Given the description of an element on the screen output the (x, y) to click on. 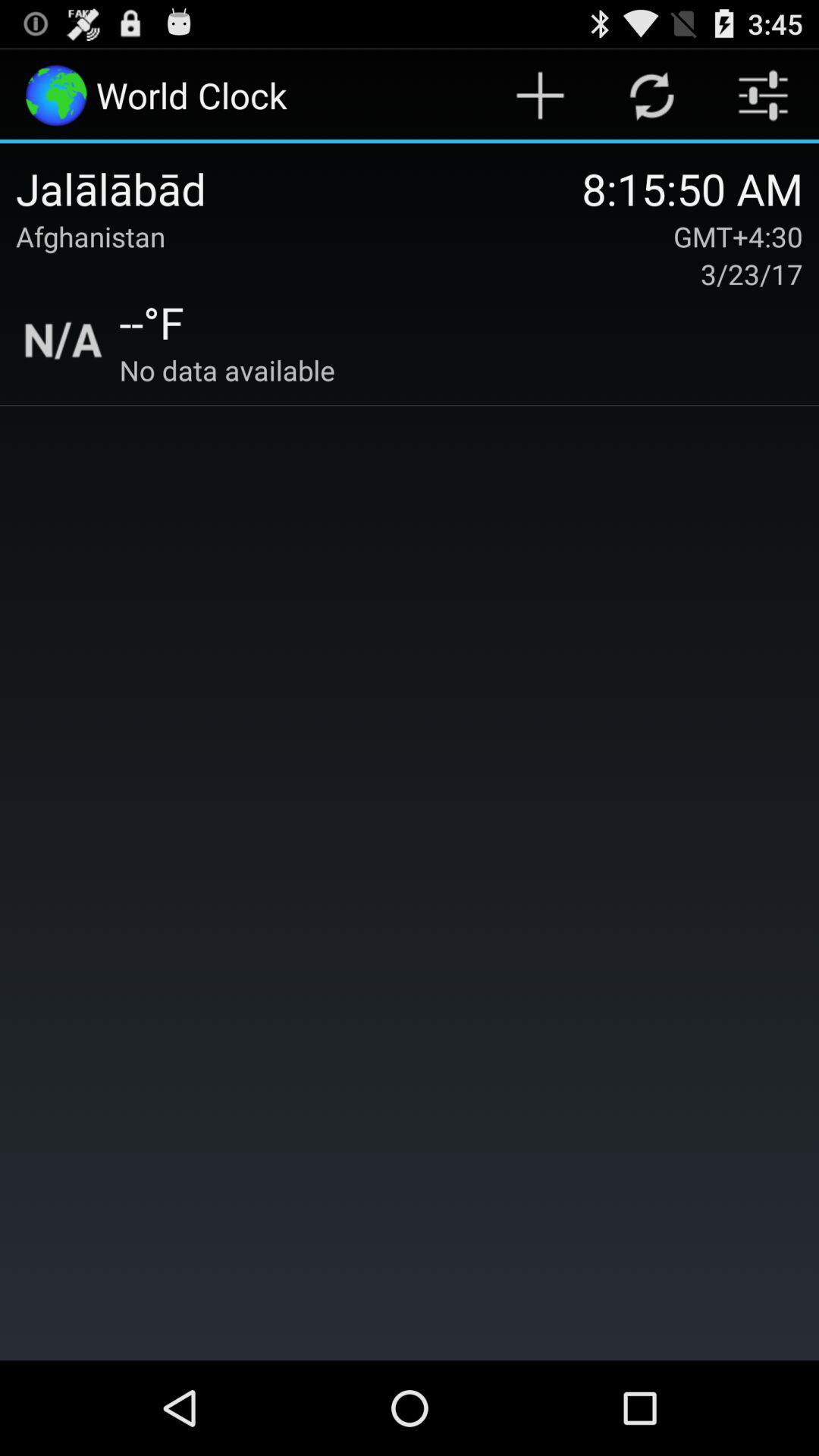
tap icon to the left of the 8 15 50 item (298, 188)
